Given the description of an element on the screen output the (x, y) to click on. 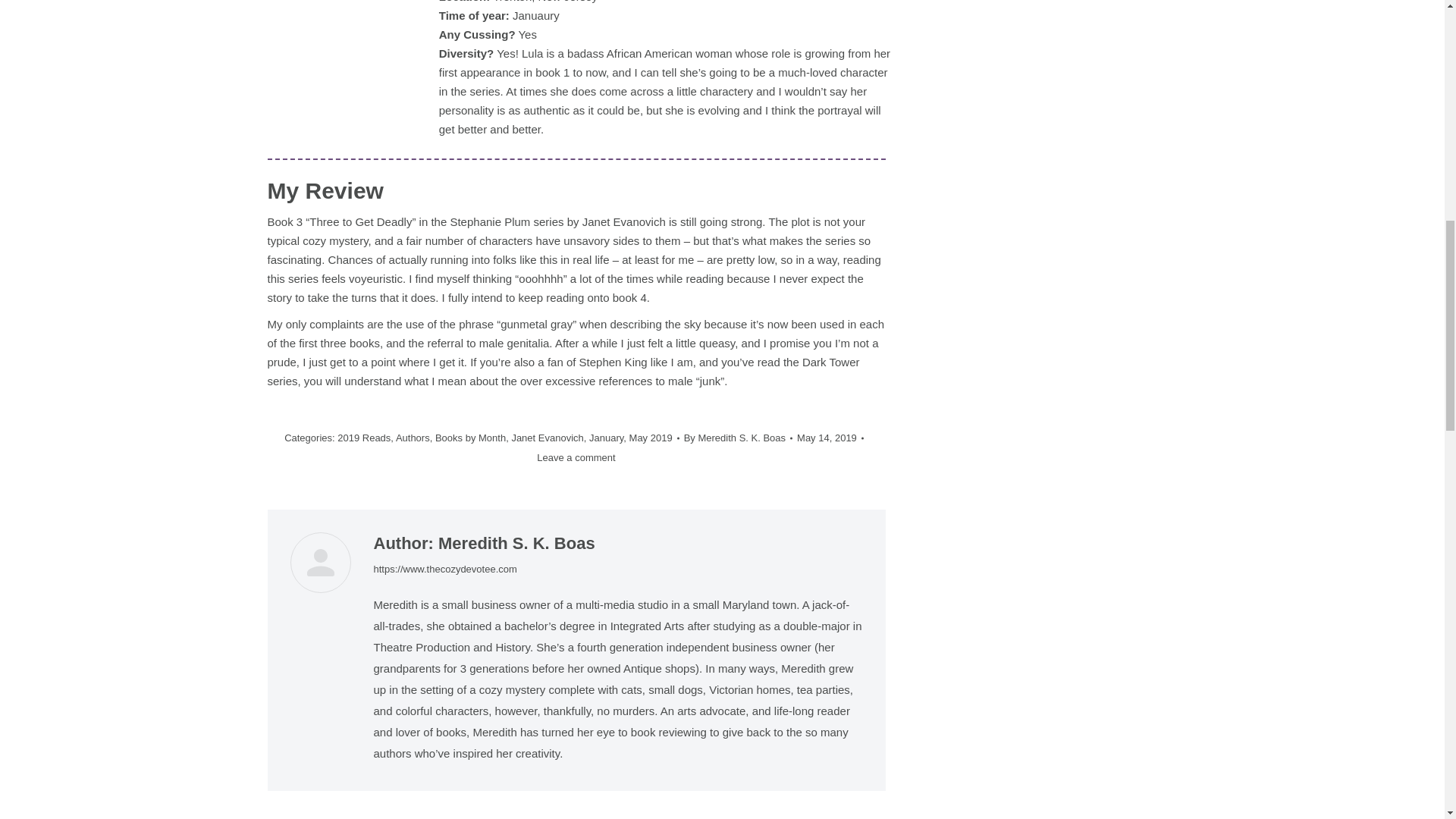
January (606, 437)
5:52 pm (829, 437)
Authors (412, 437)
Leave a comment (575, 457)
View all posts by Meredith S. K. Boas (738, 437)
2019 Reads (363, 437)
Books by Month (470, 437)
May 2019 (650, 437)
By Meredith S. K. Boas (738, 437)
Janet Evanovich (547, 437)
May 14, 2019 (829, 437)
